Given the description of an element on the screen output the (x, y) to click on. 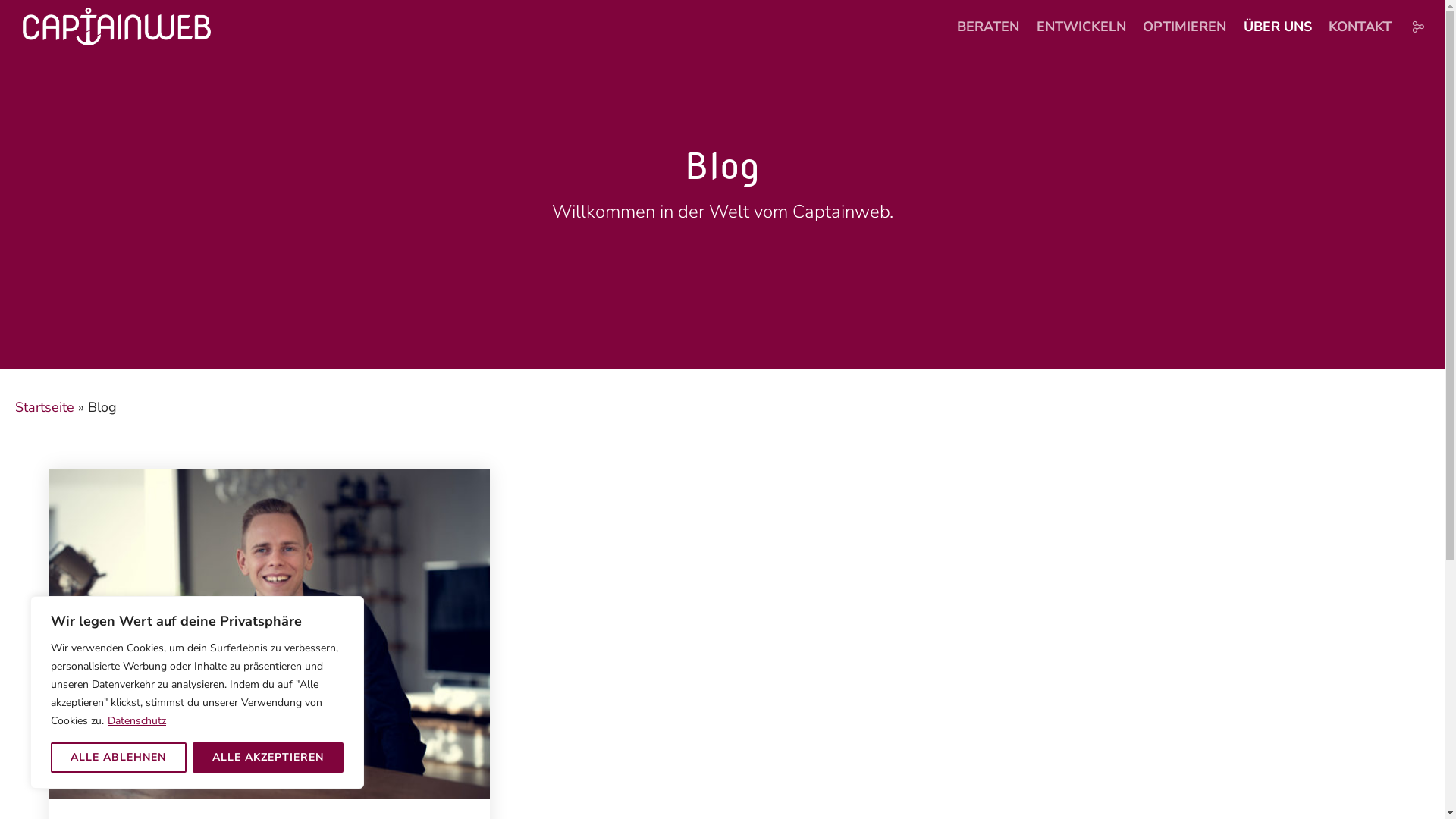
KONTAKT Element type: text (1357, 26)
Impressum Element type: text (1245, 784)
AGB Element type: text (1362, 784)
Startseite Element type: text (44, 407)
BERATEN Element type: text (987, 26)
ENTWICKELN Element type: text (1080, 26)
OPTIMIEREN Element type: text (1184, 26)
Kontakt Element type: text (1403, 784)
ALLE AKZEPTIEREN Element type: text (268, 757)
ALLE ABLEHNEN Element type: text (118, 757)
Datenschutz Element type: text (136, 720)
Datenschutz Element type: text (1311, 784)
